Given the description of an element on the screen output the (x, y) to click on. 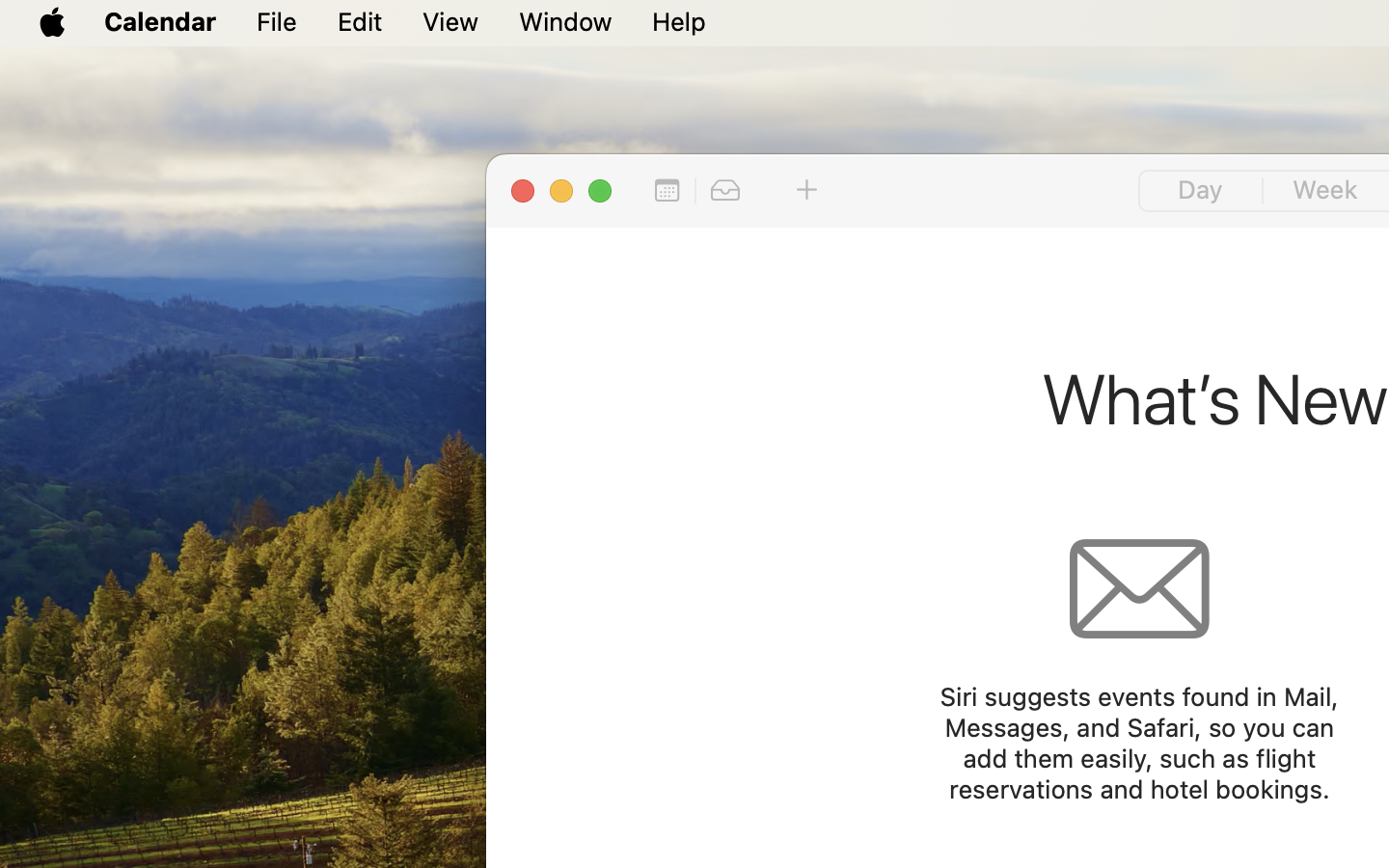
Siri suggests events found in Mail, Messages, and Safari, so you can add them easily, such as flight reservations and hotel bookings. Element type: AXStaticText (1137, 742)
